Given the description of an element on the screen output the (x, y) to click on. 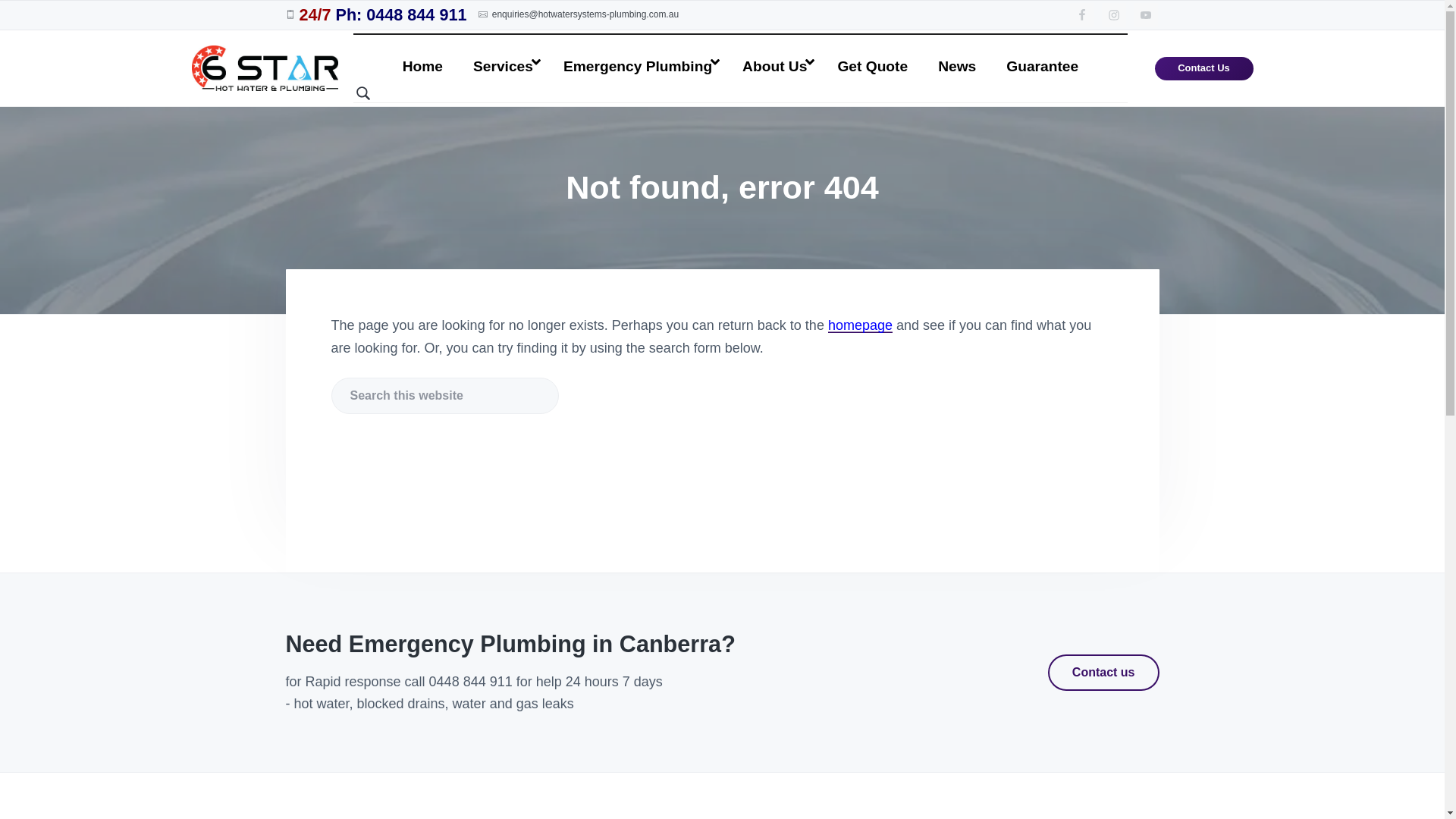
About Us Element type: text (774, 59)
Skip to primary navigation Element type: text (0, 0)
News Element type: text (956, 59)
Contact us Element type: text (1103, 672)
Get Quote Element type: text (872, 59)
Contact Us Element type: text (1203, 68)
homepage Element type: text (860, 324)
Home Element type: text (422, 59)
Emergency Plumbing Element type: text (637, 59)
6 Star Hot Water and Plumbing Services Canberra Element type: text (197, 363)
24/7 Ph: 0448 844 911 Element type: text (382, 15)
Search Element type: text (44, 18)
Services Element type: text (503, 59)
Guarantee Element type: text (1042, 59)
